Given the description of an element on the screen output the (x, y) to click on. 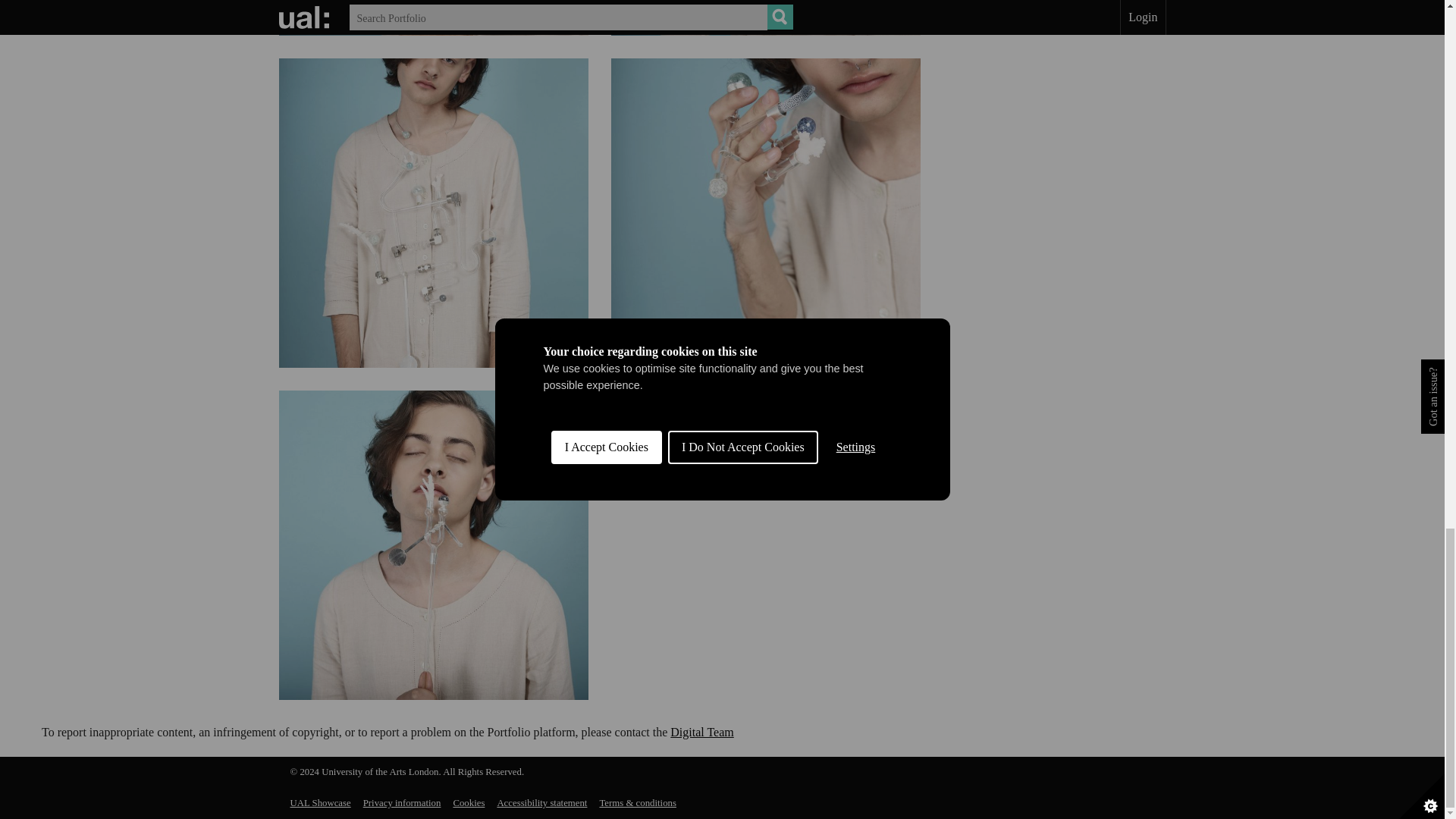
Privacy information (401, 802)
Digital Team (701, 731)
Accessibility statement (541, 802)
Cookies (468, 802)
UAL Showcase (319, 802)
